Given the description of an element on the screen output the (x, y) to click on. 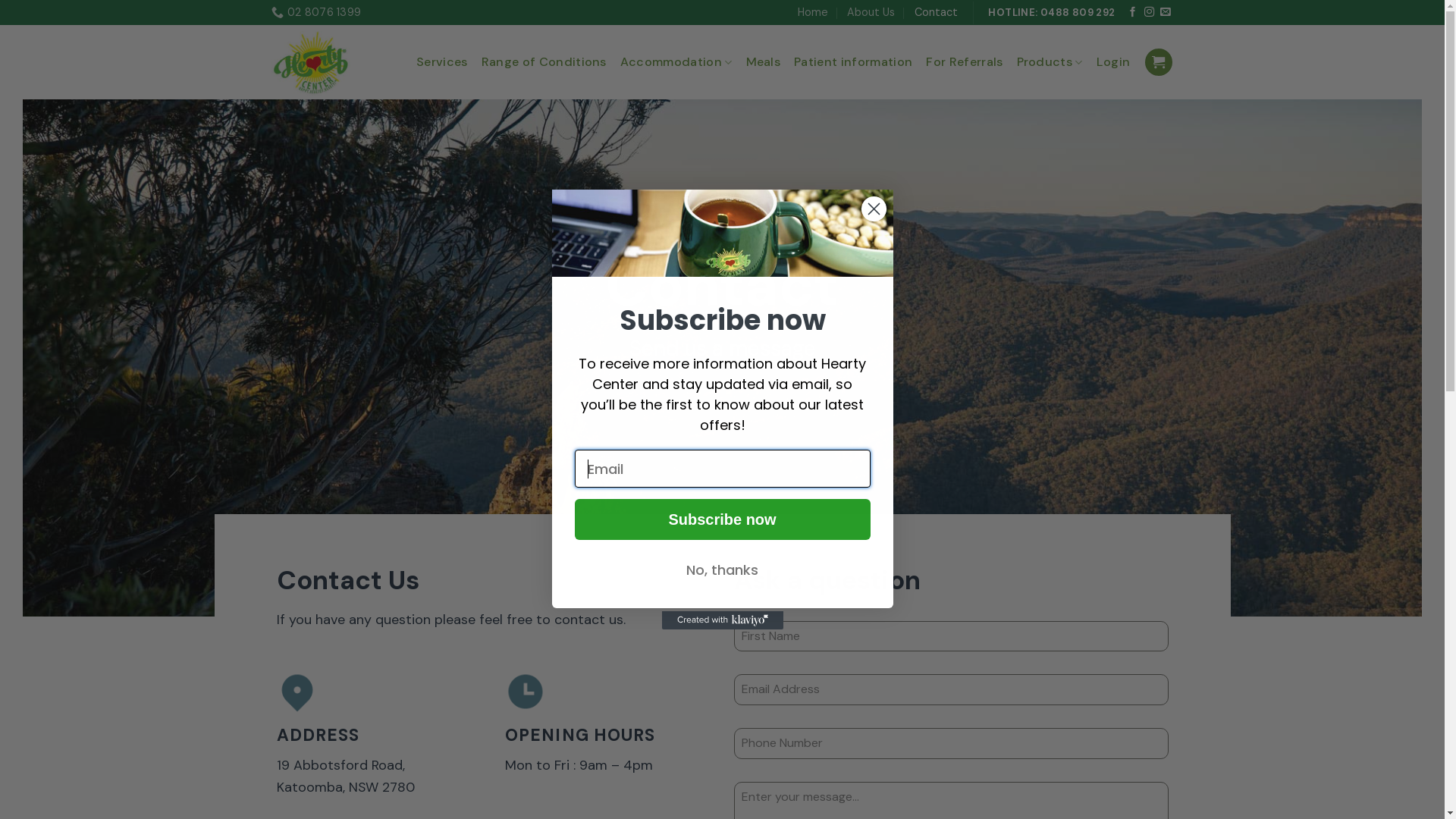
Meals Element type: text (763, 61)
Send us an email Element type: hover (1165, 12)
Accommodation Element type: text (676, 61)
No, thanks Element type: text (722, 570)
Submit Element type: text (38, 14)
Follow on Instagram Element type: hover (1148, 12)
Contact Element type: text (935, 12)
Services Element type: text (441, 61)
Cart Element type: hover (1158, 61)
Products Element type: text (1049, 61)
02 8076 1399 Element type: text (316, 12)
Cancer Retreat Center - Just another WordPress site Element type: hover (318, 62)
Subscribe now Element type: text (722, 518)
HOTLINE: 0488 809 292 Element type: text (1051, 12)
For Referrals Element type: text (963, 61)
Login Element type: text (1113, 61)
Patient information Element type: text (852, 61)
Follow on Facebook Element type: hover (1132, 12)
Home Element type: text (812, 12)
Range of Conditions Element type: text (543, 61)
About Us Element type: text (870, 12)
